Given the description of an element on the screen output the (x, y) to click on. 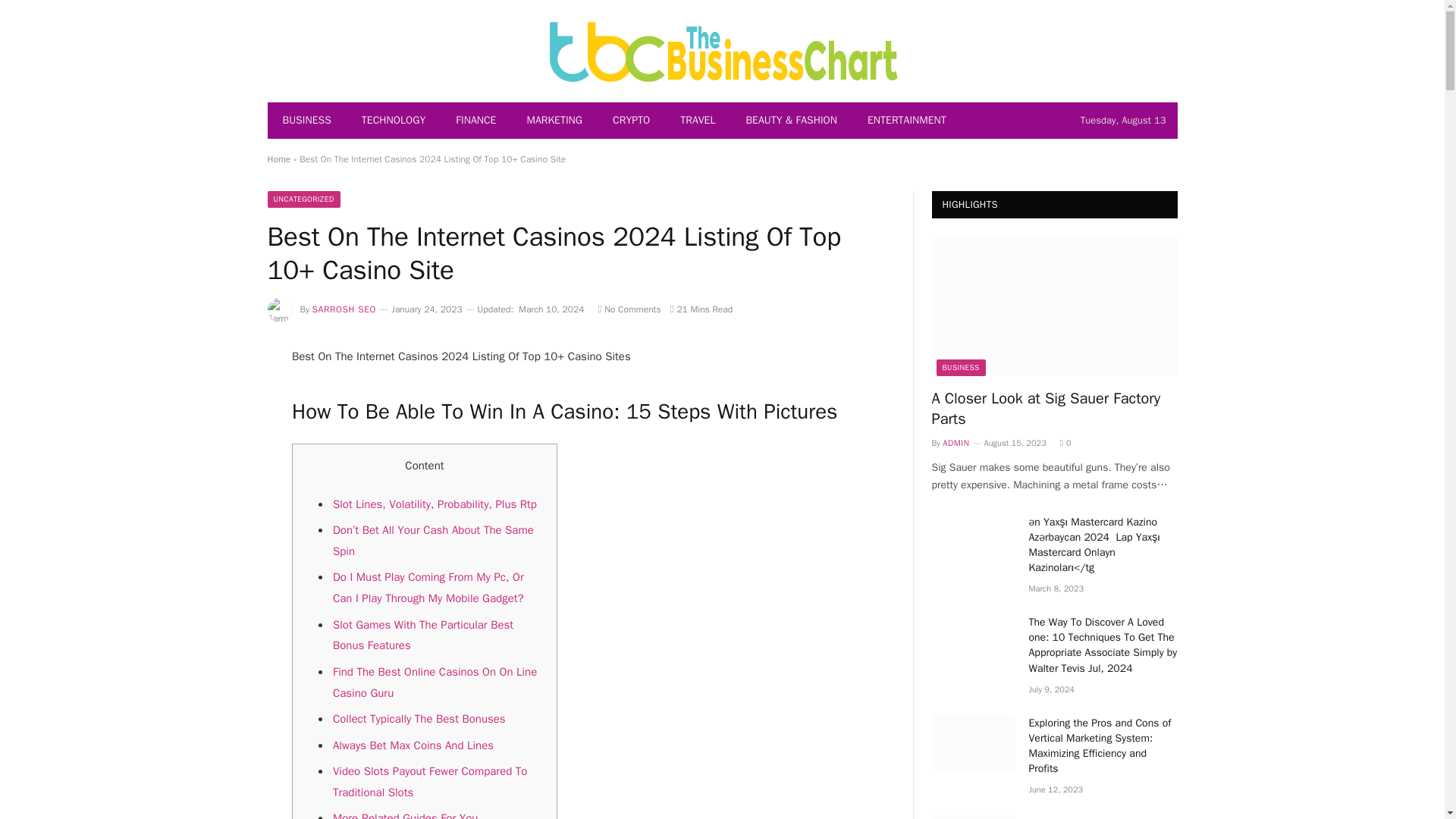
ENTERTAINMENT (905, 120)
TRAVEL (697, 120)
CRYPTO (630, 120)
Find The Best Online Casinos On On Line Casino Guru (435, 682)
The Business Chart (721, 50)
Posts by Sarrosh Seo (345, 309)
TECHNOLOGY (393, 120)
Collect Typically The Best Bonuses (419, 718)
MARKETING (553, 120)
BUSINESS (306, 120)
